Given the description of an element on the screen output the (x, y) to click on. 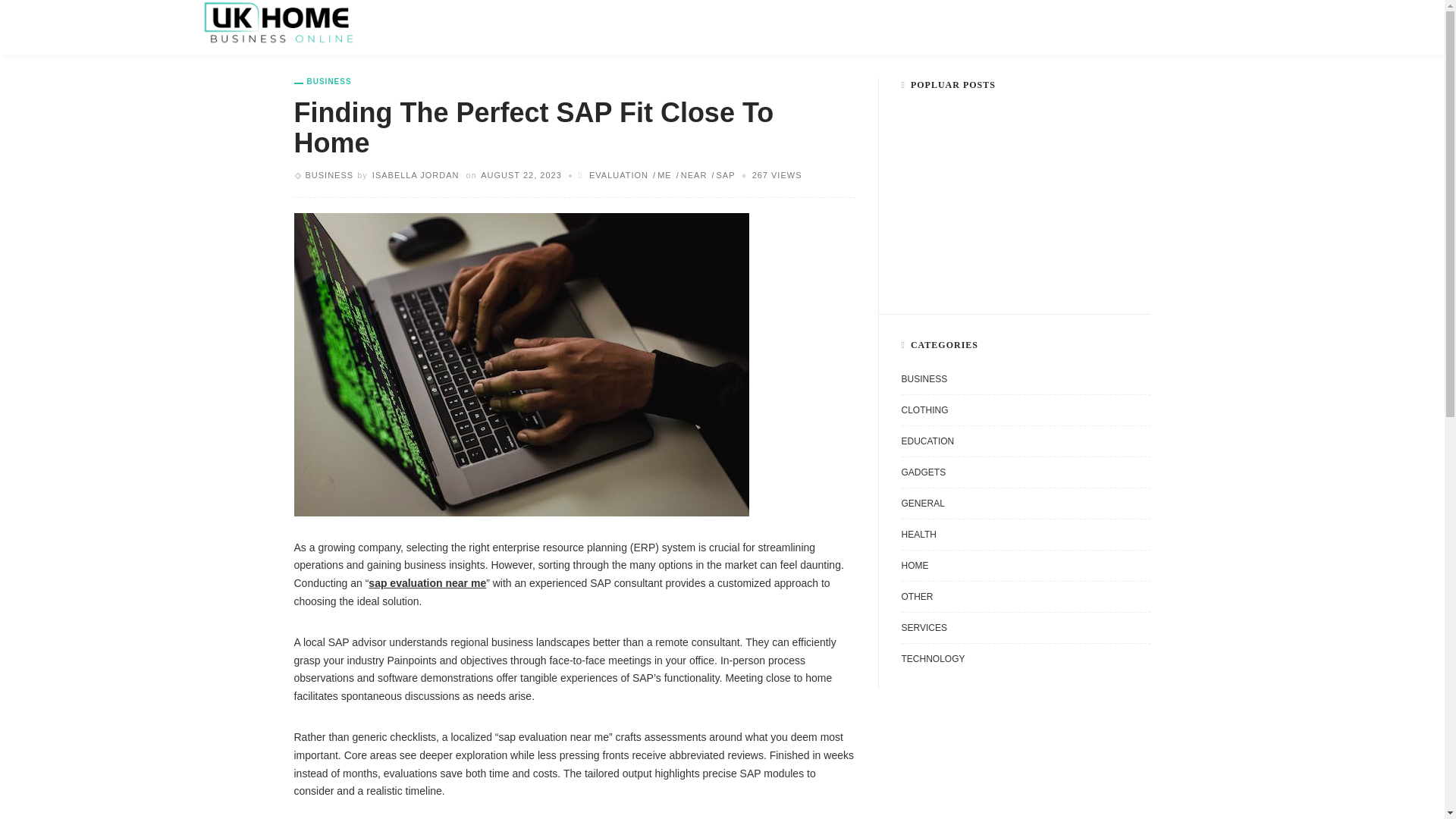
business (328, 174)
ME (660, 174)
Home Business Online (278, 21)
BLOG (550, 27)
ISABELLA JORDAN (416, 174)
HOME (411, 27)
BUSINESS (328, 174)
WRITE FOR US (635, 27)
267 VIEWS (777, 174)
EVALUATION (618, 174)
BUSINESS (323, 81)
SAP (722, 174)
NEAR (691, 174)
sap evaluation near me (427, 582)
business (323, 81)
